Given the description of an element on the screen output the (x, y) to click on. 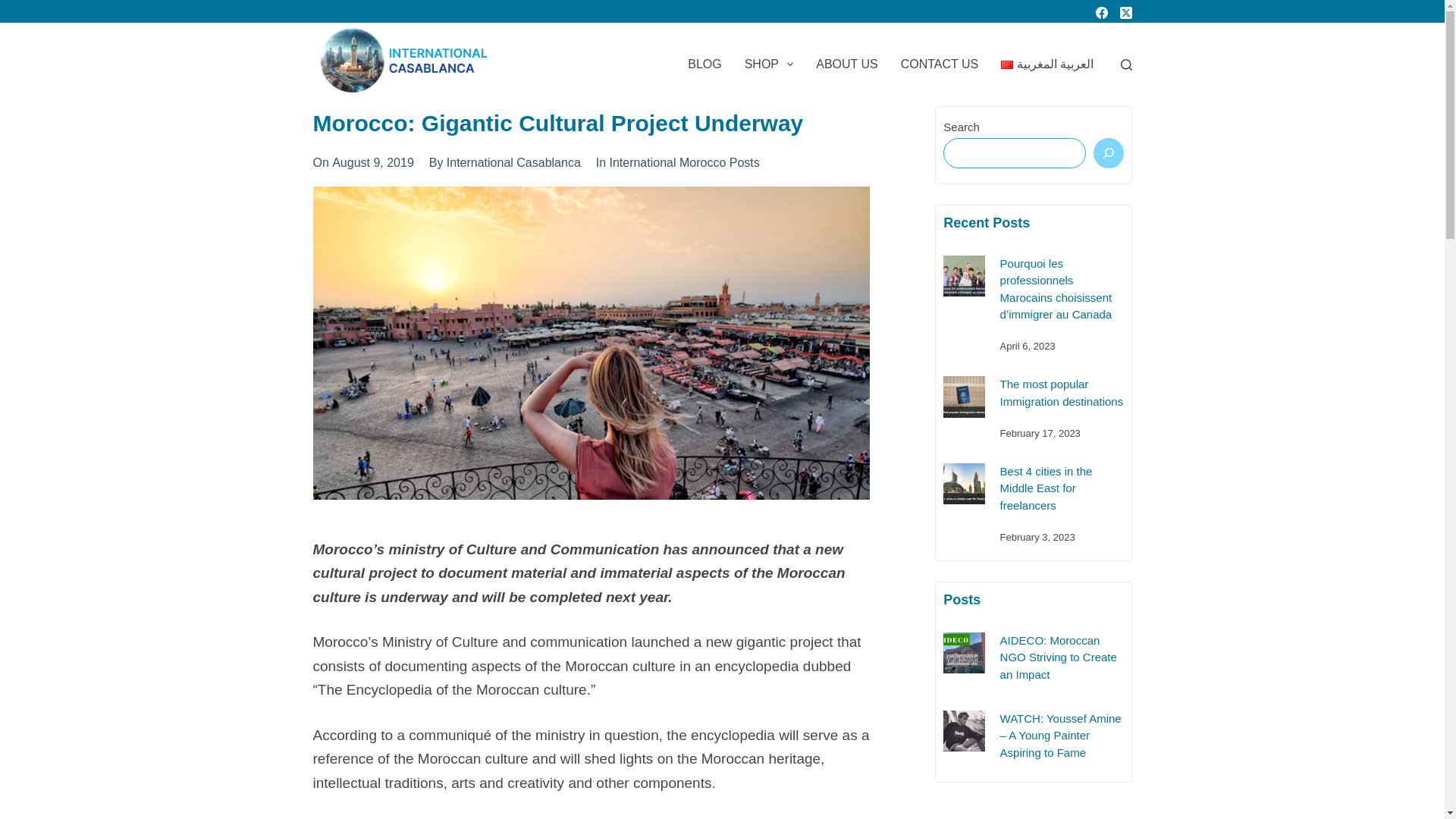
International Morocco Posts (683, 162)
Skip to content (15, 7)
International Casablanca (513, 162)
ABOUT US (847, 64)
SHOP (769, 64)
Morocco: Gigantic Cultural Project Underway (591, 123)
CONTACT US (939, 64)
BLOG (704, 64)
Posts by International Casablanca (513, 162)
